Given the description of an element on the screen output the (x, y) to click on. 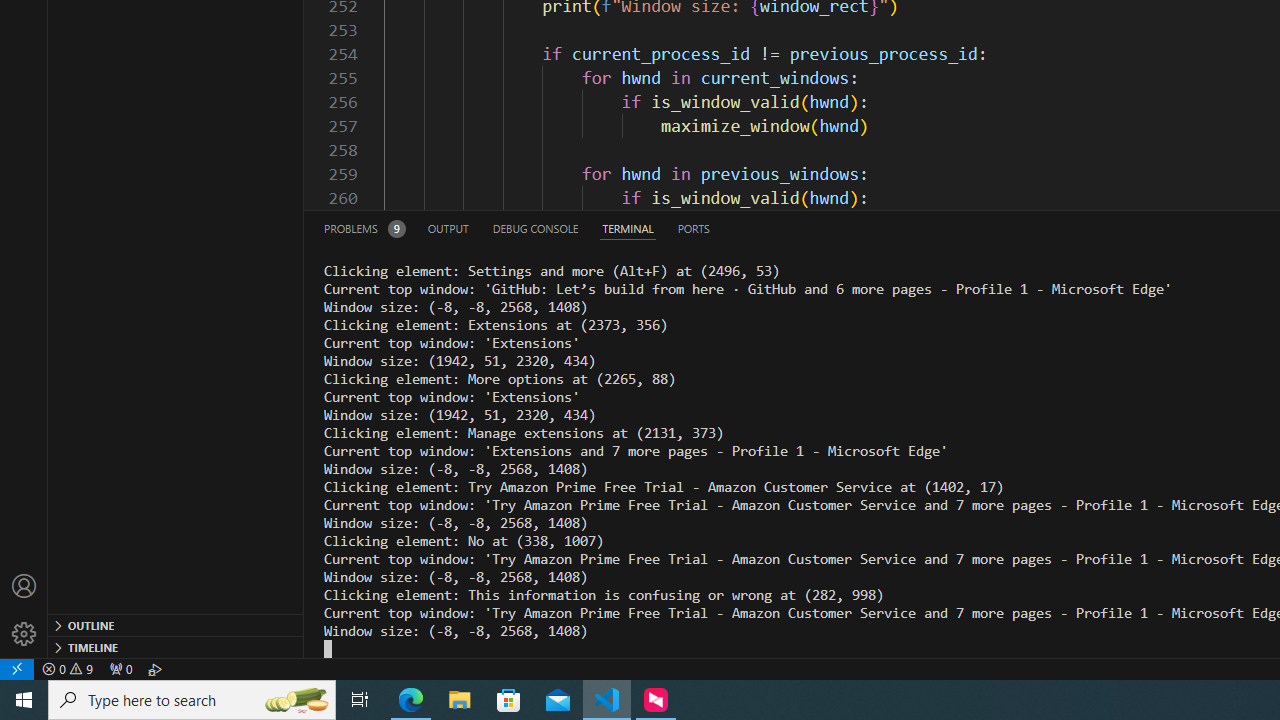
Ports (693, 228)
Accounts (24, 585)
Outline Section (175, 624)
Debug Console (Ctrl+Shift+Y) (535, 228)
Terminal (Ctrl+`) (627, 228)
Warnings: 9 (67, 668)
Problems (Ctrl+Shift+M) - Total 9 Problems (364, 228)
Debug:  (155, 668)
Timeline Section (175, 646)
remote (17, 668)
Output (Ctrl+Shift+U) (447, 228)
No Ports Forwarded (120, 668)
